Given the description of an element on the screen output the (x, y) to click on. 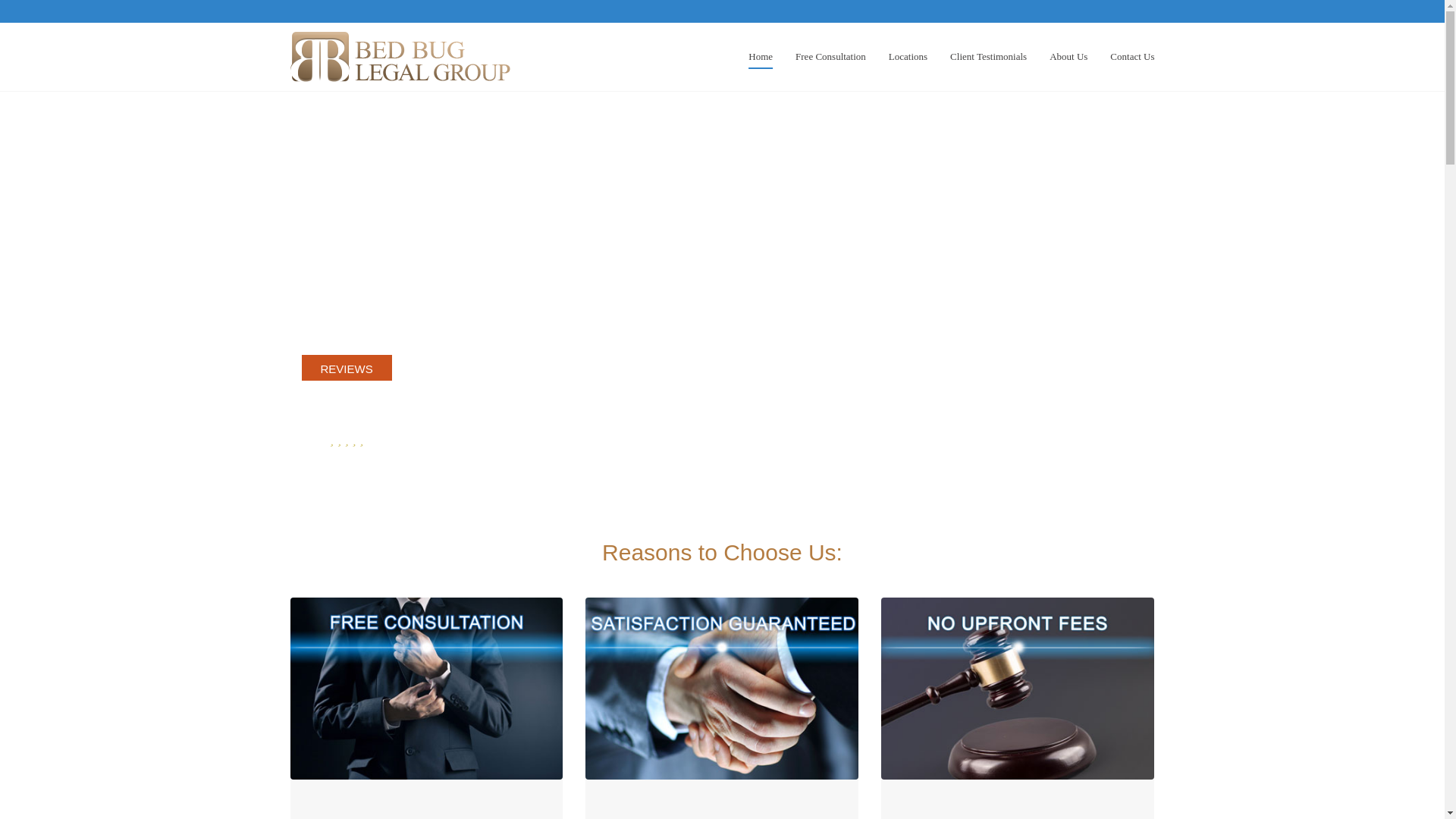
REVIEWS (346, 368)
Read our reviews (346, 462)
Client Testimonials (988, 45)
Free Consultation (830, 45)
Contact Us (1131, 45)
READ REVIEW (346, 462)
